Given the description of an element on the screen output the (x, y) to click on. 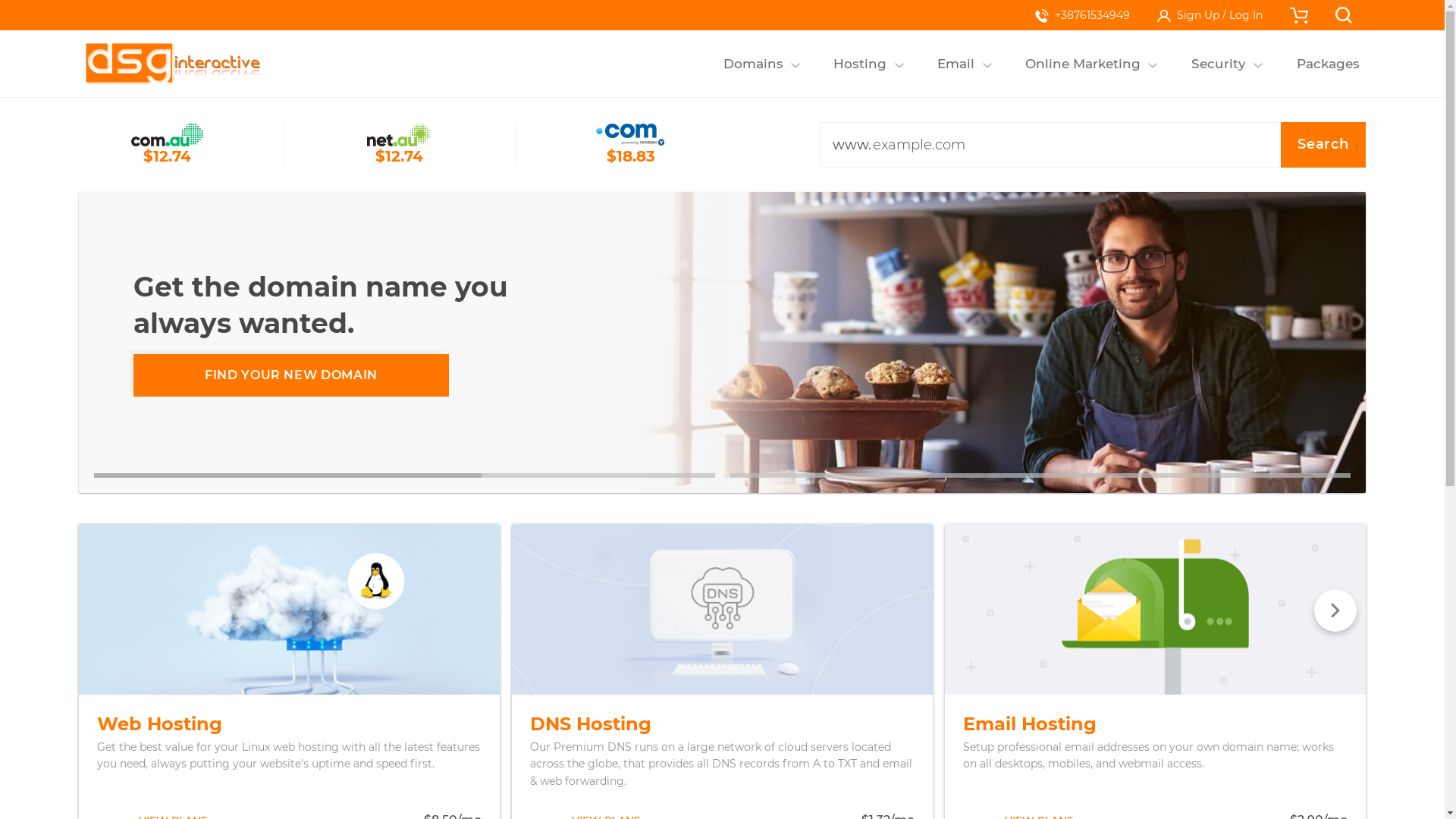
Email Element type: text (956, 63)
Search Element type: text (1322, 144)
Security Element type: text (1218, 63)
+38761534949 Element type: text (1082, 15)
Packages Element type: text (1327, 63)
Hosting Element type: text (860, 63)
BUILD NOW Element type: text (290, 375)
Domains Element type: text (752, 63)
Online Marketing Element type: text (1083, 63)
